Given the description of an element on the screen output the (x, y) to click on. 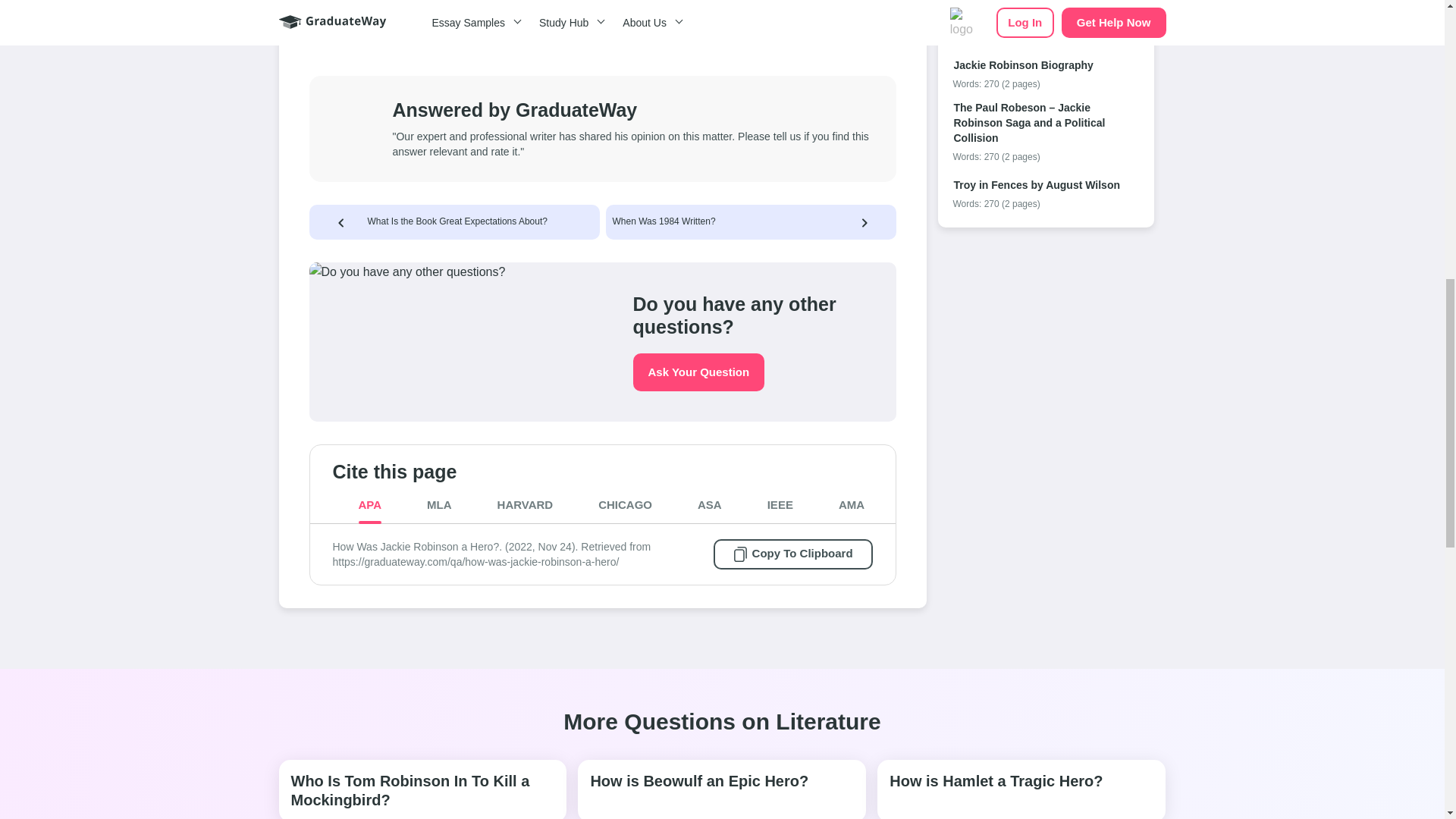
When Was 1984 Written? (663, 221)
Ask Your Question (697, 371)
APA (369, 505)
What Is the Book Great Expectations About? (457, 221)
